Given the description of an element on the screen output the (x, y) to click on. 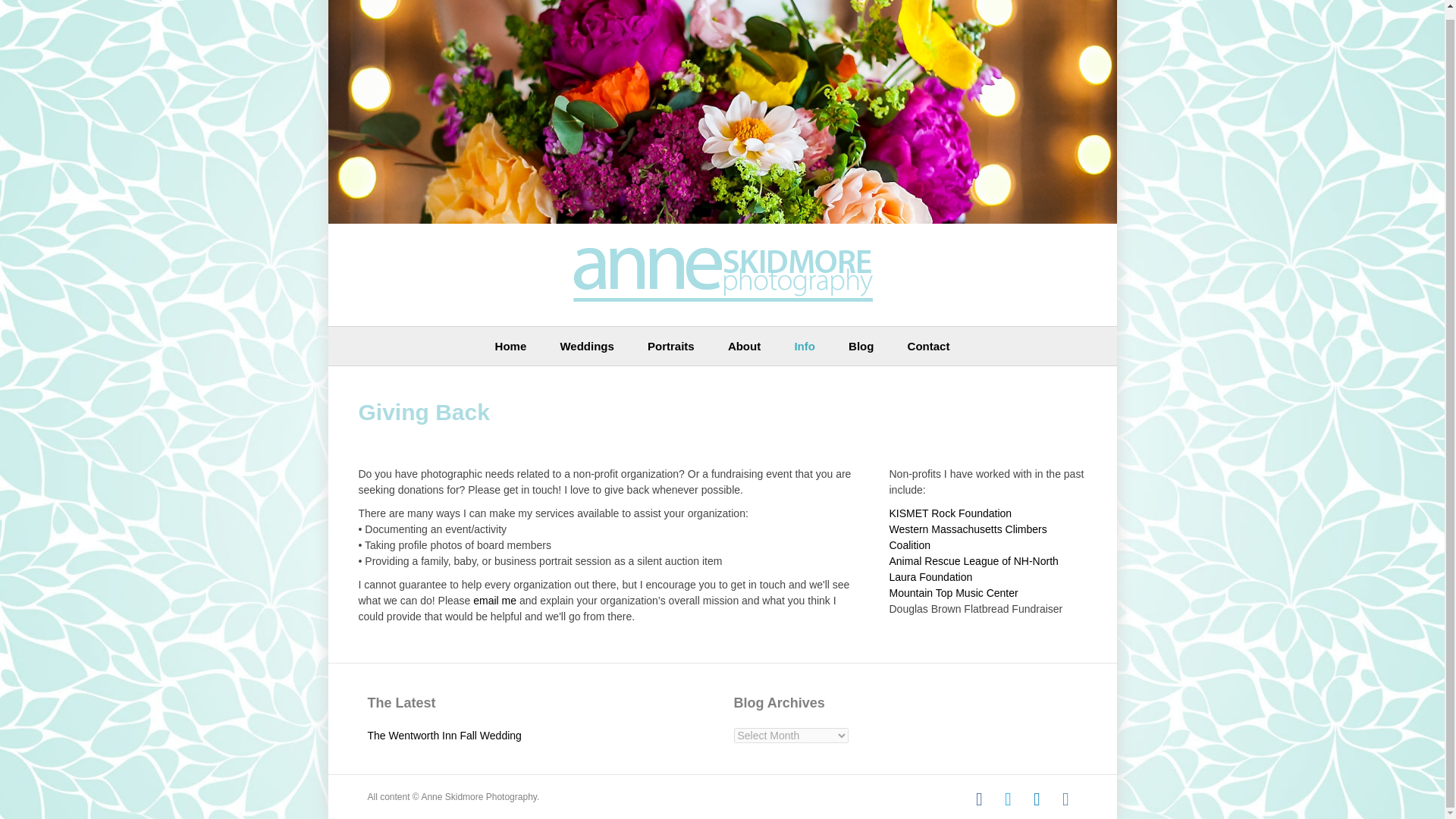
About (744, 345)
Weddings (586, 345)
Portraits (670, 345)
Home (510, 345)
